Given the description of an element on the screen output the (x, y) to click on. 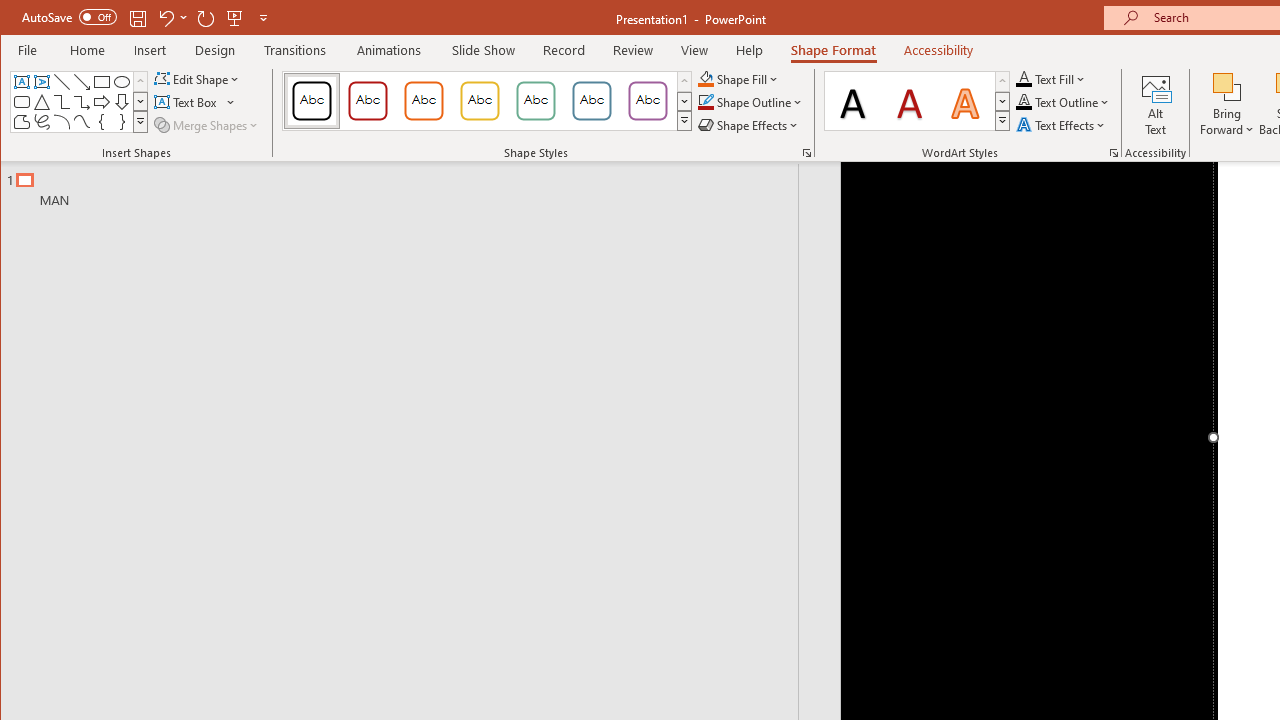
Text Effects (1062, 124)
Colored Outline - Green, Accent 4 (536, 100)
Bring Forward (1227, 86)
